Given the description of an element on the screen output the (x, y) to click on. 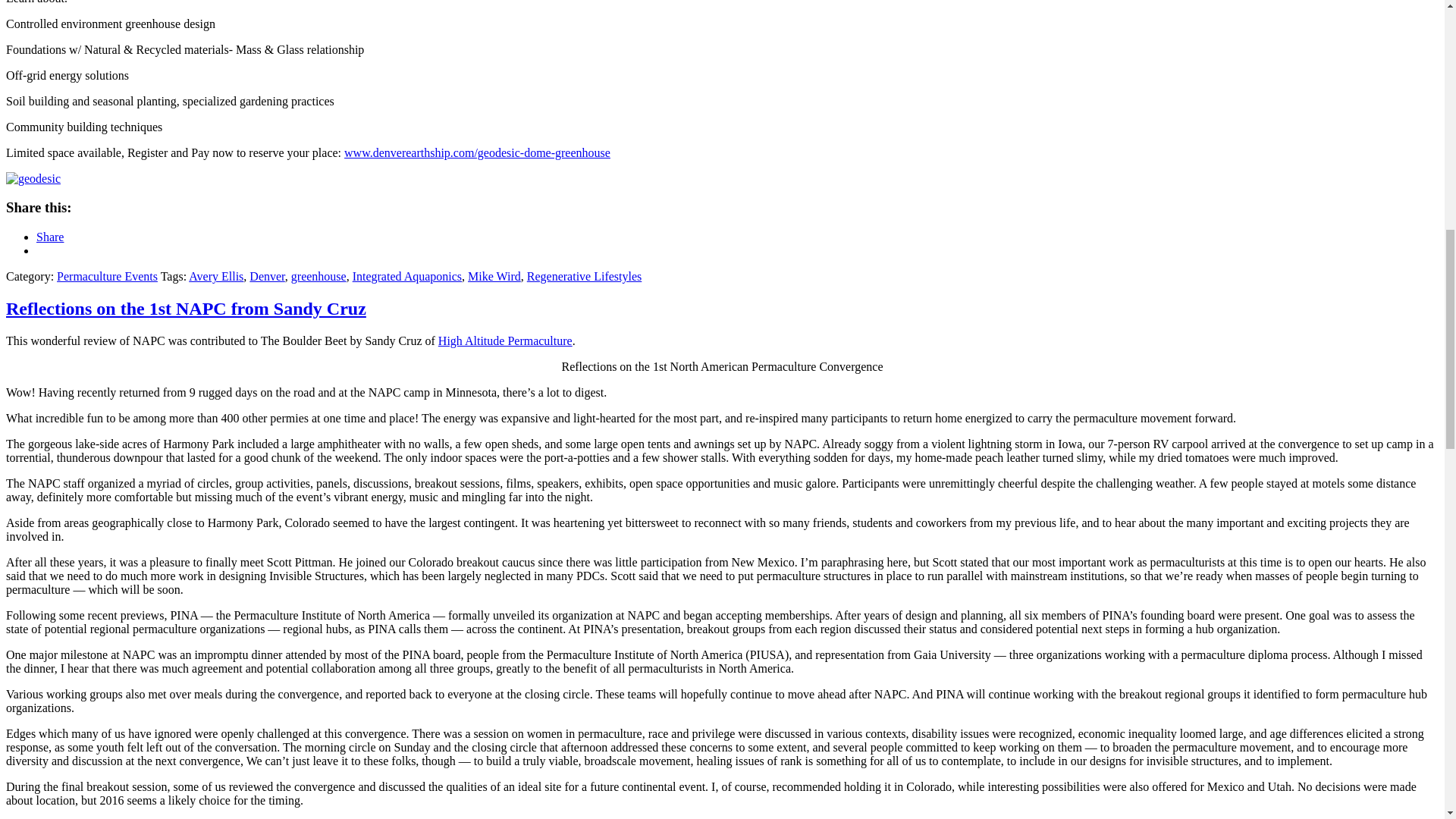
Denver (265, 276)
Reflections on the 1st NAPC from Sandy Cruz (185, 308)
Mike Wird (494, 276)
greenhouse (318, 276)
Share (50, 236)
Permalink to Reflections on the 1st NAPC from Sandy Cruz (185, 308)
Integrated Aquaponics (406, 276)
Avery Ellis (216, 276)
Regenerative Lifestyles (584, 276)
High Altitude Permaculture (505, 340)
